Given the description of an element on the screen output the (x, y) to click on. 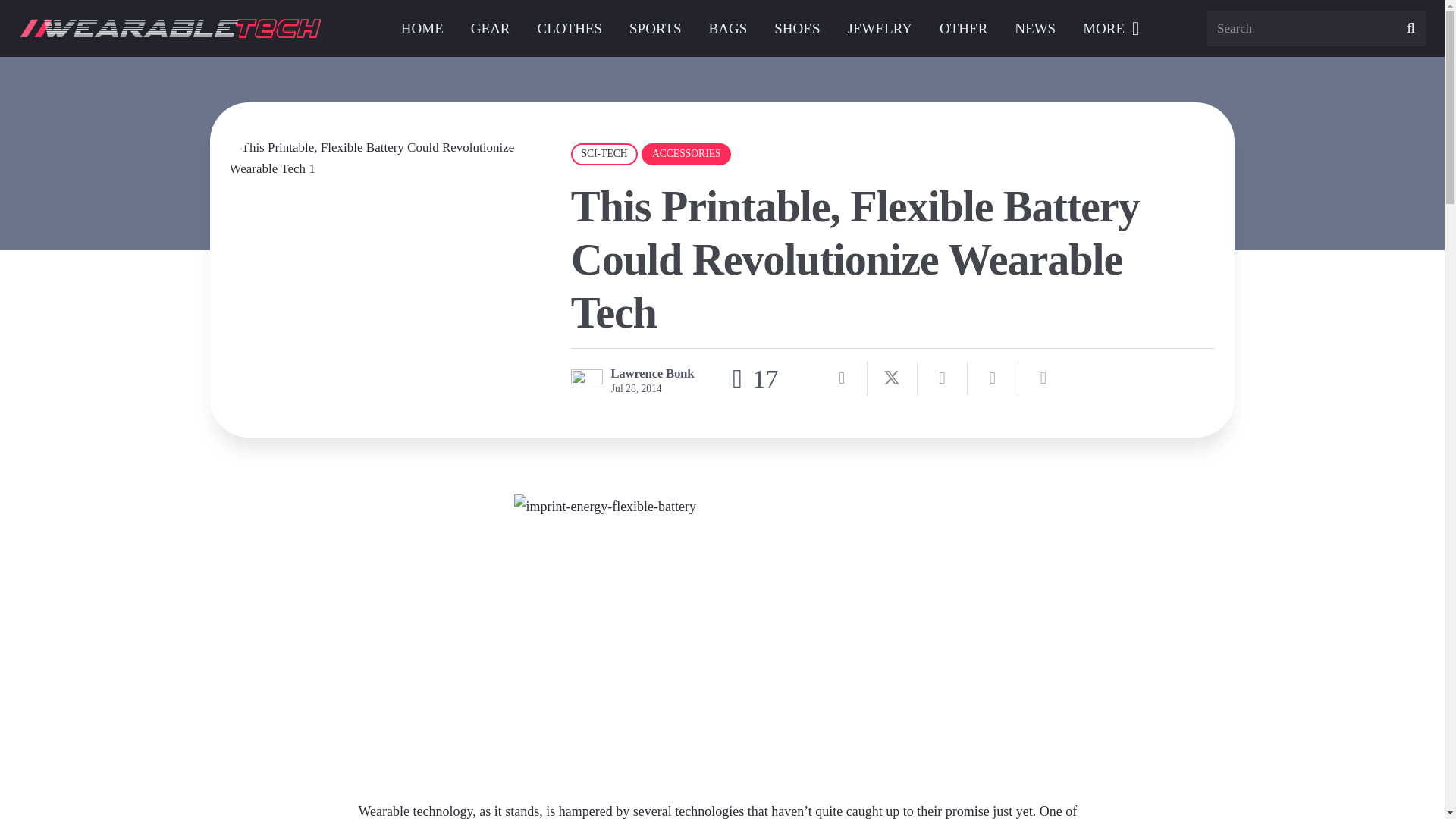
GEAR (490, 28)
Share this (1042, 377)
BAGS (728, 28)
Share this (841, 377)
Tweet this (892, 377)
OTHER (963, 28)
Pin this (992, 377)
HOME (422, 28)
CLOTHES (569, 28)
JEWELRY (879, 28)
